Given the description of an element on the screen output the (x, y) to click on. 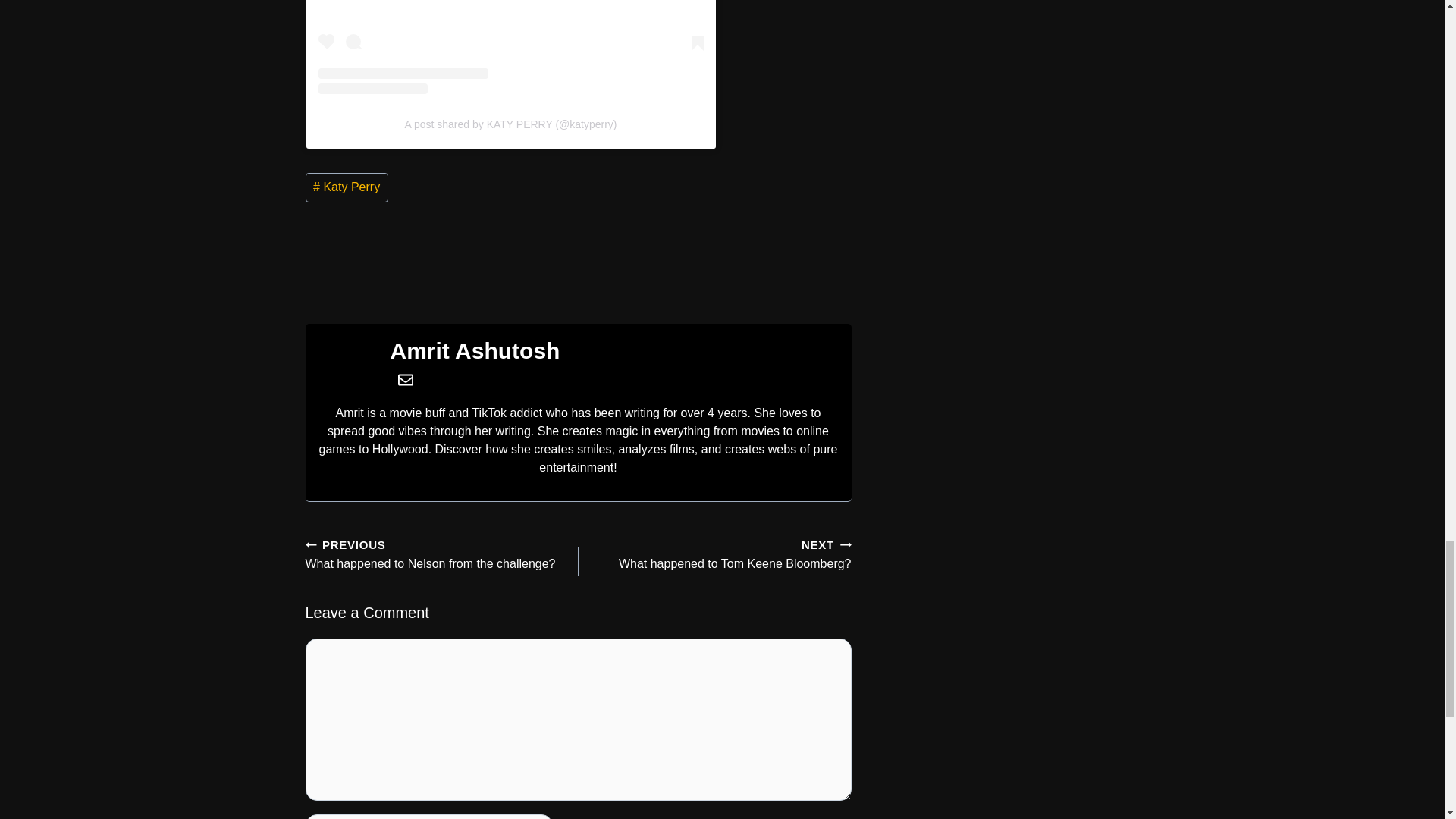
CONTINUE (845, 544)
View this post on Instagram (510, 47)
Katy Perry (345, 187)
PREVIOUS (309, 544)
